Given the description of an element on the screen output the (x, y) to click on. 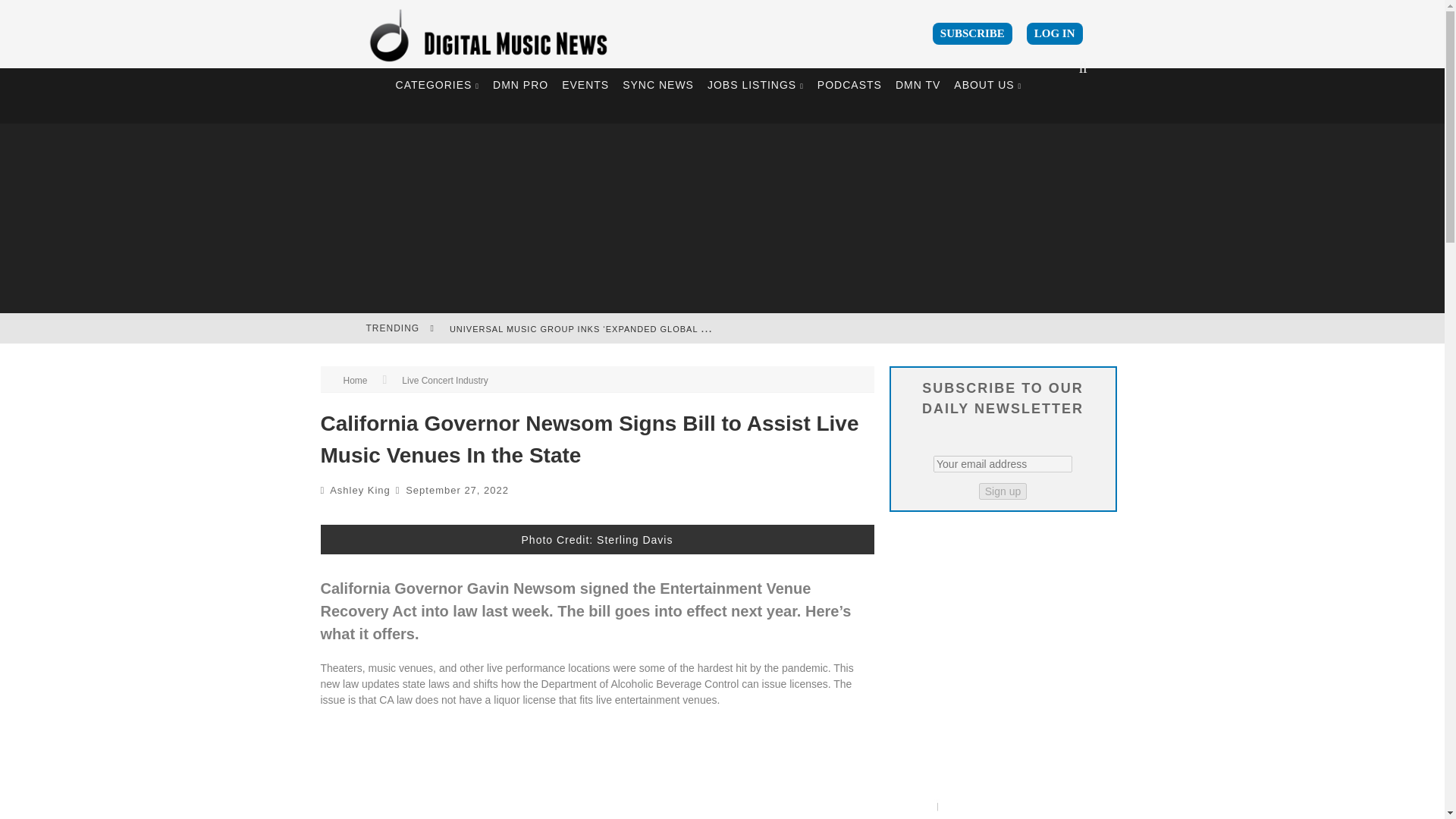
Sign up (1002, 491)
View all posts in Live Concert Industry (444, 380)
DMN PRO (520, 84)
Log In (721, 497)
CATEGORIES (437, 84)
Register (721, 507)
SUBSCRIBE (972, 33)
LOG IN (1054, 33)
EVENTS (584, 84)
SYNC NEWS (657, 84)
